Given the description of an element on the screen output the (x, y) to click on. 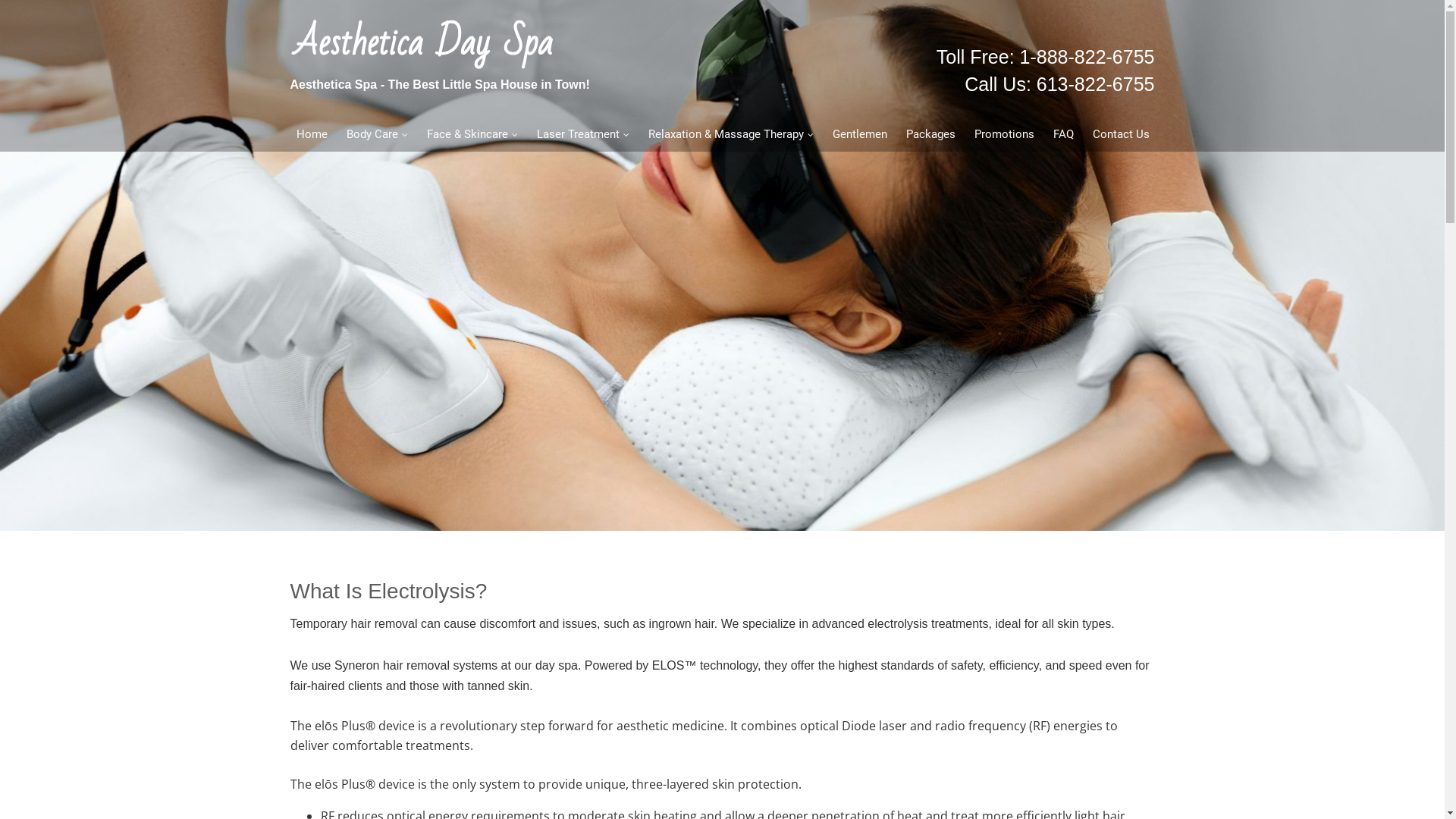
Promotions Element type: text (1003, 134)
Body Care Element type: text (376, 134)
Aesthetica Day Spa Element type: text (423, 42)
613-822-6755 Element type: text (1095, 83)
1-888-822-6755 Element type: text (1086, 56)
Packages Element type: text (930, 134)
FAQ Element type: text (1062, 134)
Face & Skincare Element type: text (472, 134)
Gentlemen Element type: text (858, 134)
Home Element type: text (311, 134)
Relaxation & Massage Therapy Element type: text (730, 134)
Laser Treatment Element type: text (581, 134)
Contact Us Element type: text (1120, 134)
